Given the description of an element on the screen output the (x, y) to click on. 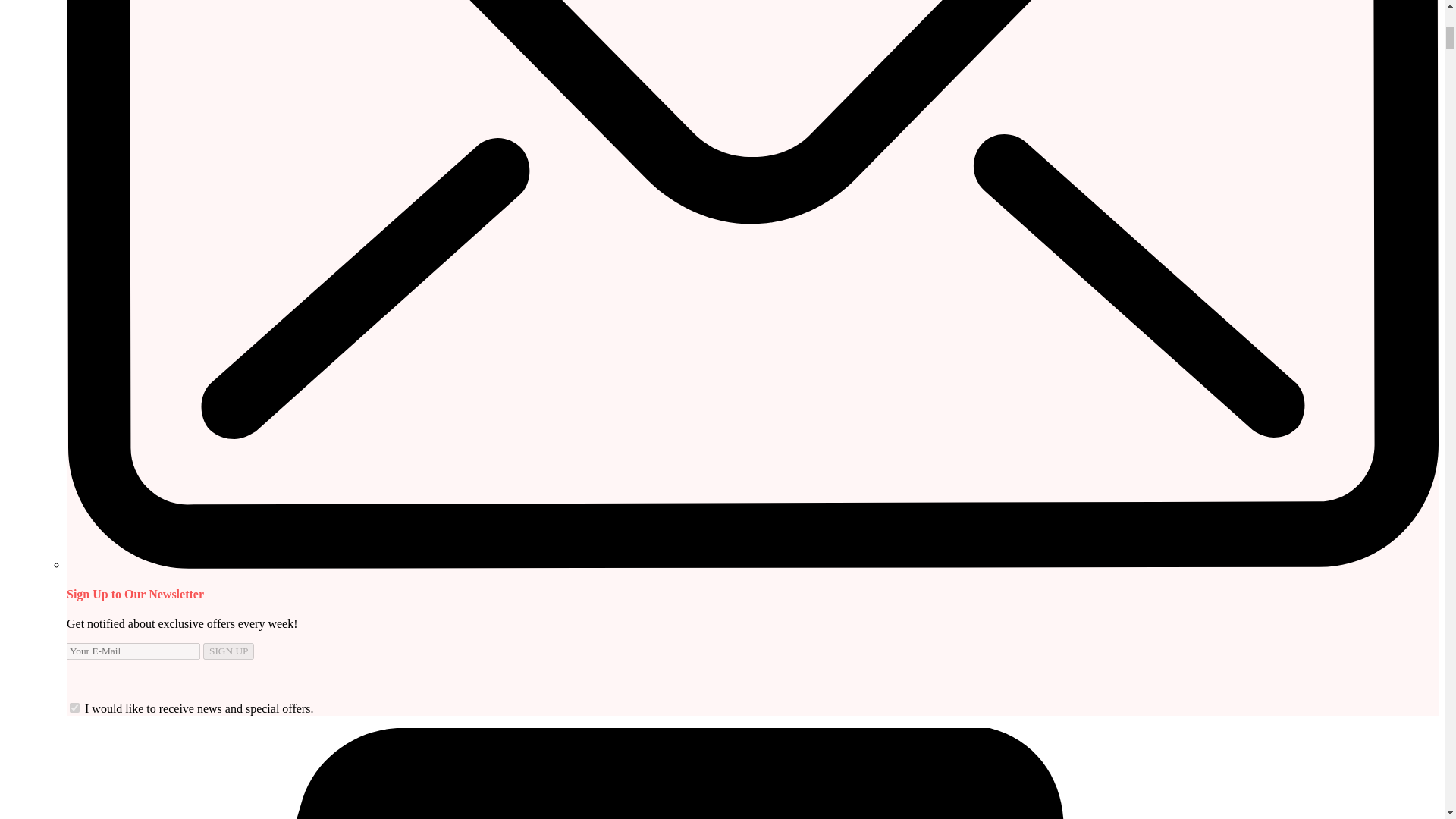
SIGN UP (228, 651)
on (74, 707)
